Given the description of an element on the screen output the (x, y) to click on. 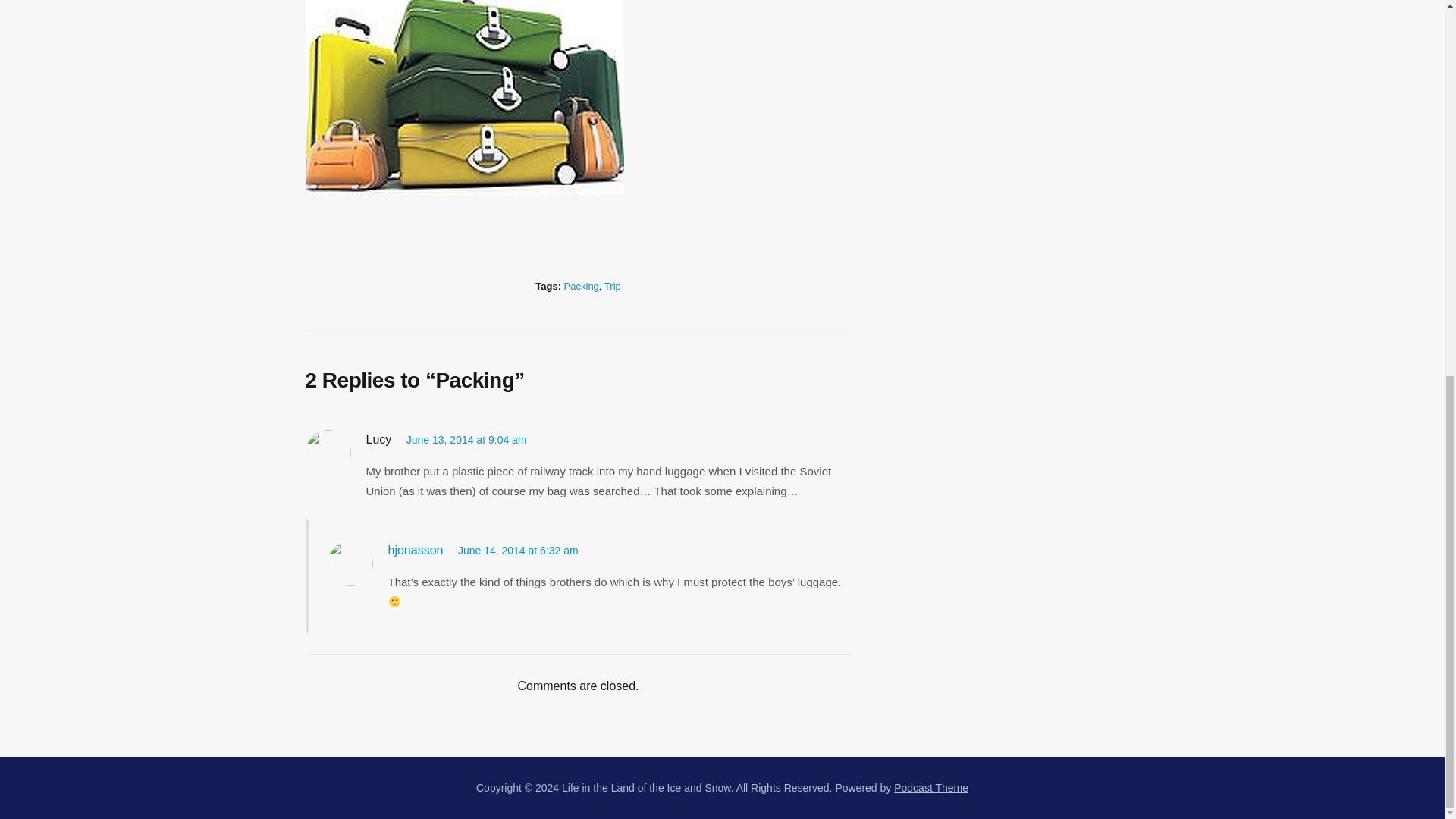
Packing (581, 285)
Trip (612, 285)
June 14, 2014 at 6:32 am (518, 550)
Podcast Theme (930, 787)
June 13, 2014 at 9:04 am (466, 439)
hjonasson (416, 549)
